Given the description of an element on the screen output the (x, y) to click on. 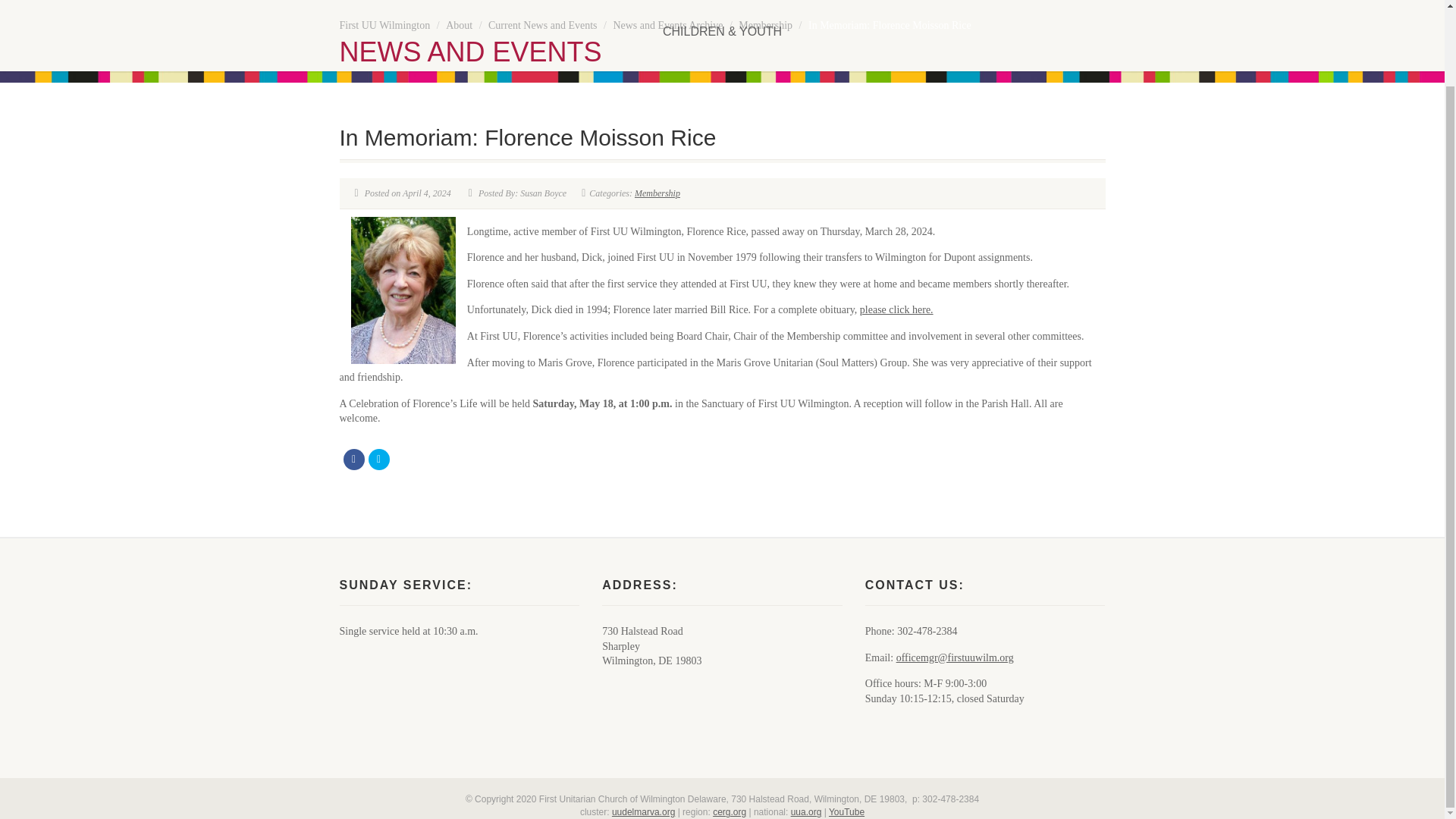
Tweet (379, 459)
WORSHIP (687, 6)
MUSIC (773, 6)
ABOUT US (451, 6)
Go to Current News and Events. (541, 25)
Go to News and Events Archive. (667, 25)
Share on Facebook (353, 459)
Go to About. (458, 25)
Go to First UU Wilmington. (384, 25)
Go to the Membership Category archives. (765, 25)
